Given the description of an element on the screen output the (x, y) to click on. 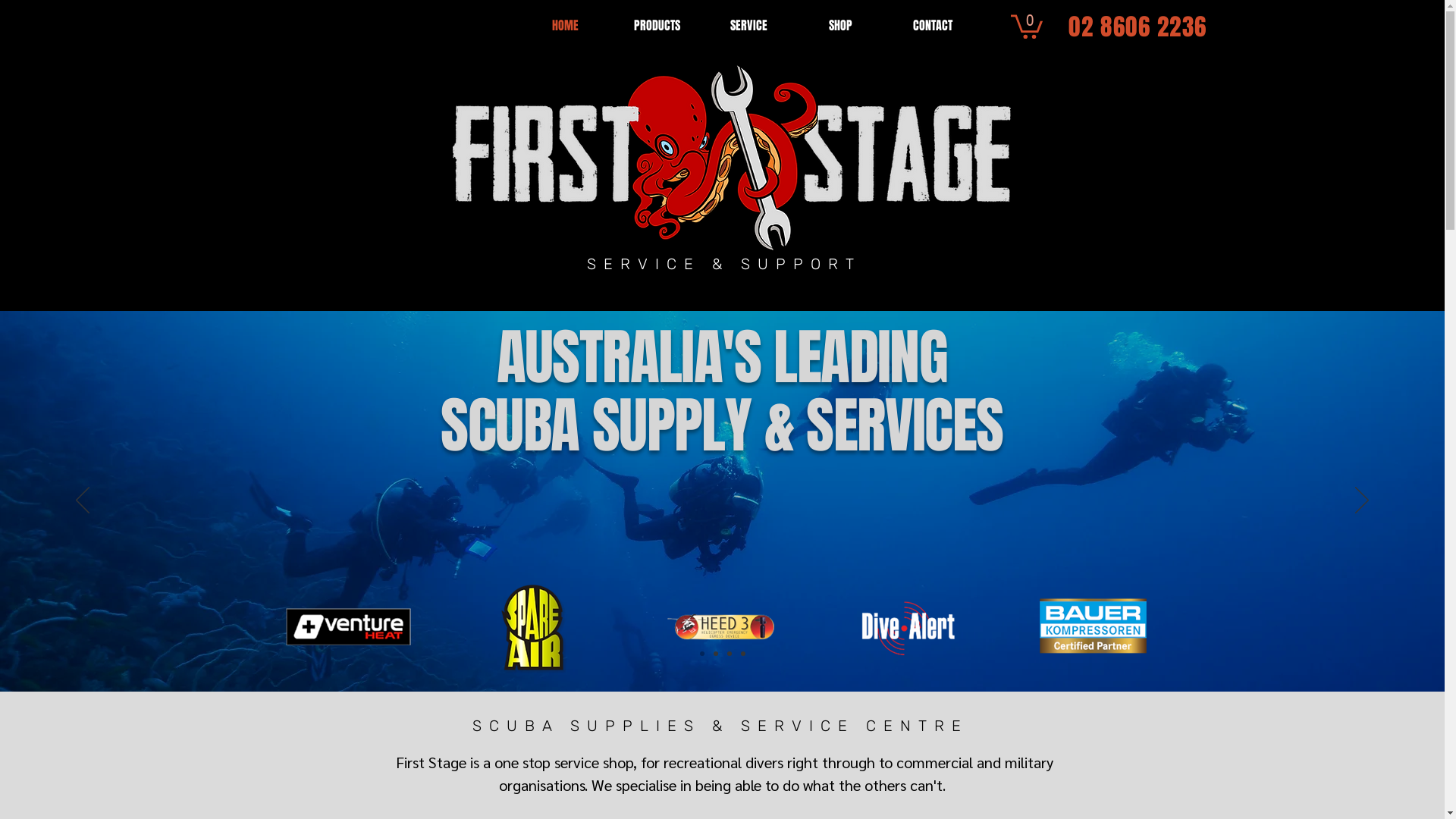
HOME Element type: text (564, 25)
SHOP Element type: text (840, 25)
SERVICE Element type: text (748, 25)
CONTACT Element type: text (932, 25)
PRODUCTS Element type: text (656, 25)
0 Element type: text (1026, 25)
